Given the description of an element on the screen output the (x, y) to click on. 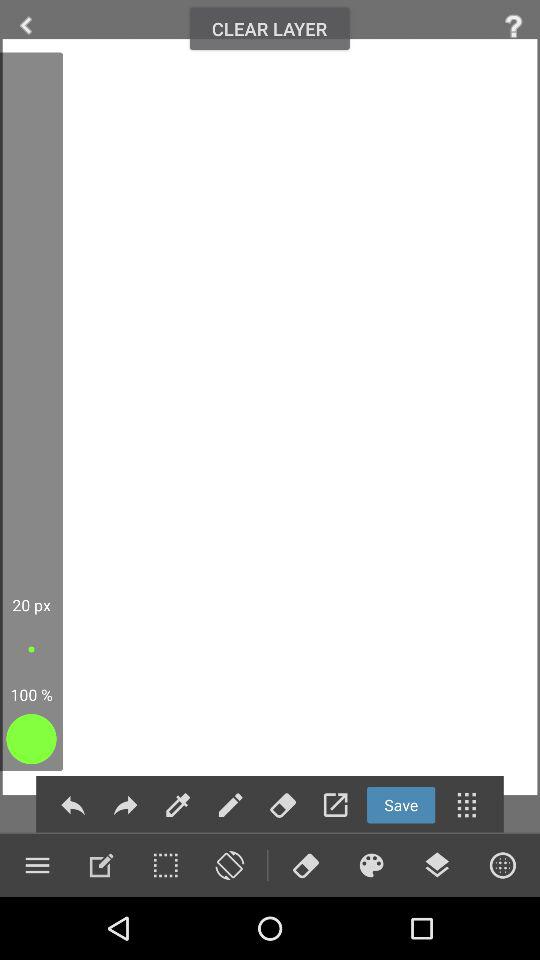
add circle (502, 865)
